Given the description of an element on the screen output the (x, y) to click on. 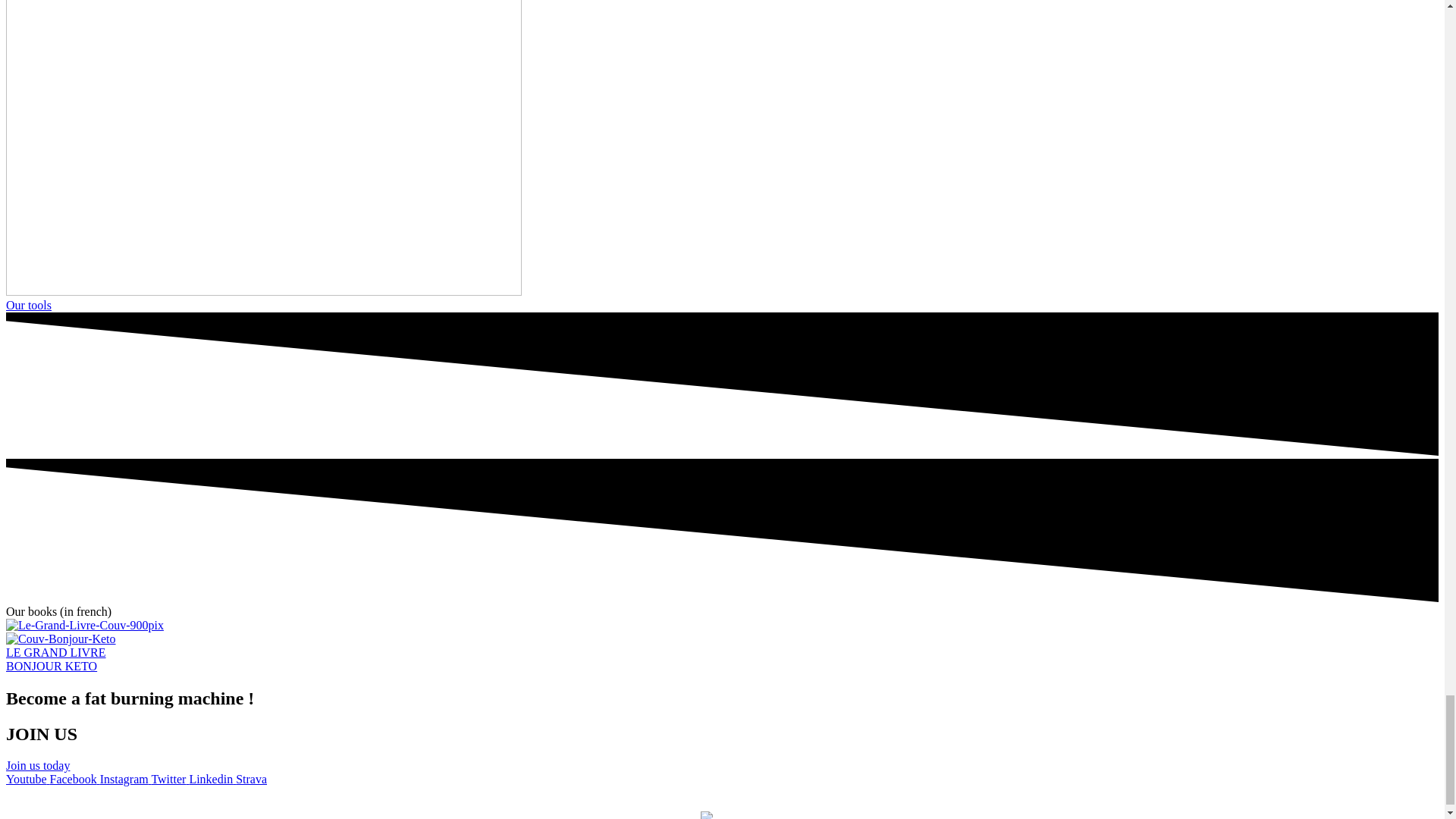
Le-Grand-Livre-Couv-900pix (84, 625)
BONJOUR KETO (51, 666)
Strava (250, 779)
Couv-Bonjour-Keto (60, 639)
Linkedin (212, 779)
Our tools (27, 305)
Youtube (27, 779)
LE GRAND LIVRE (55, 652)
Facebook (74, 779)
Join us today (37, 765)
Instagram (125, 779)
Twitter (170, 779)
